Given the description of an element on the screen output the (x, y) to click on. 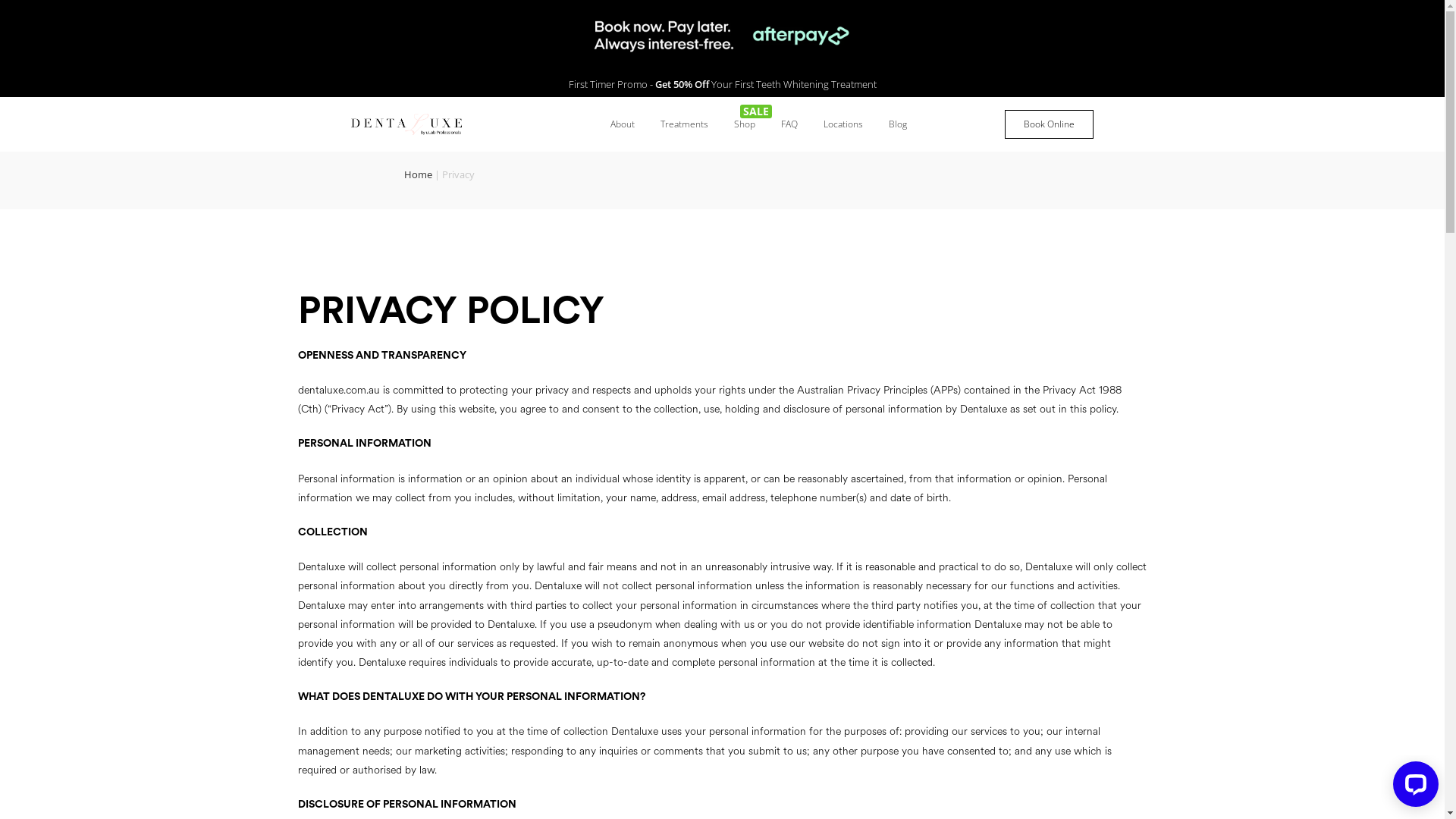
Blog Element type: text (897, 124)
Shop
SALE Element type: text (744, 124)
Treatments Element type: text (683, 124)
Book Online Element type: text (1048, 123)
Locations Element type: text (842, 124)
Home Element type: text (417, 174)
FAQ Element type: text (789, 124)
About Element type: text (622, 124)
